Given the description of an element on the screen output the (x, y) to click on. 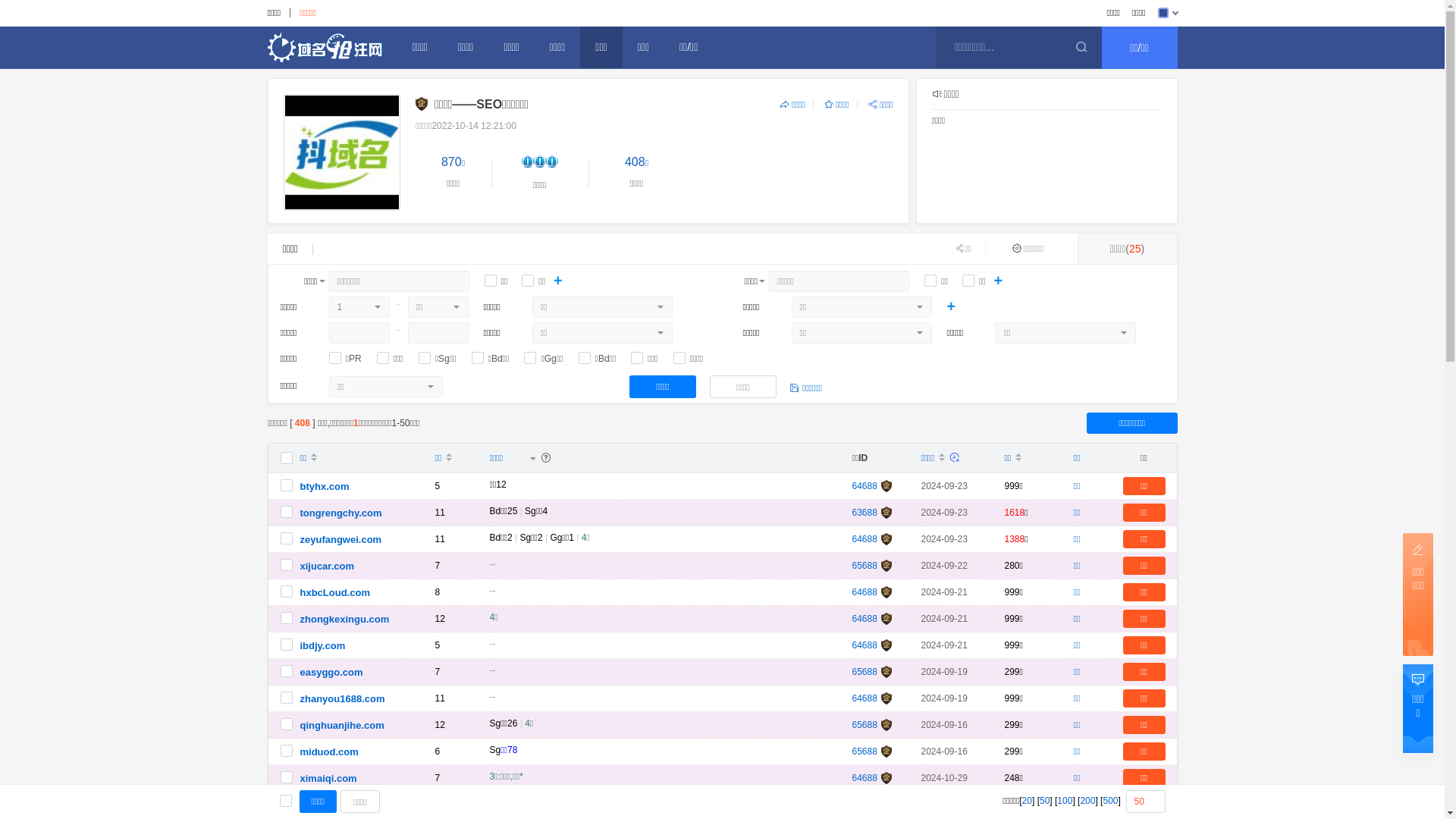
65688 Element type: text (864, 671)
65688 Element type: text (864, 565)
easyggo.com Element type: text (331, 671)
zhanyou1688.com Element type: text (342, 698)
qinghuanjihe.com Element type: text (342, 725)
65688 Element type: text (864, 724)
64688 Element type: text (864, 591)
64688 Element type: text (864, 777)
btyhx.com Element type: text (324, 486)
tongrengchy.com Element type: text (341, 512)
zeyufangwei.com Element type: text (341, 539)
ximaiqi.com Element type: text (328, 778)
64688 Element type: text (864, 485)
hxbcLoud.com Element type: text (335, 592)
ibdjy.com Element type: text (322, 645)
miduod.com Element type: text (329, 751)
500 Element type: text (1109, 800)
64688 Element type: text (864, 804)
64688 Element type: text (864, 538)
64688 Element type: text (864, 645)
65688 Element type: text (864, 751)
zhongkexingu.com Element type: text (344, 618)
xijucar.com Element type: text (327, 565)
astcLoudshop.com Element type: text (345, 804)
64688 Element type: text (864, 618)
50 Element type: text (1044, 800)
63688 Element type: text (864, 512)
64688 Element type: text (864, 698)
20 Element type: text (1027, 800)
200 Element type: text (1087, 800)
100 Element type: text (1064, 800)
